Given the description of an element on the screen output the (x, y) to click on. 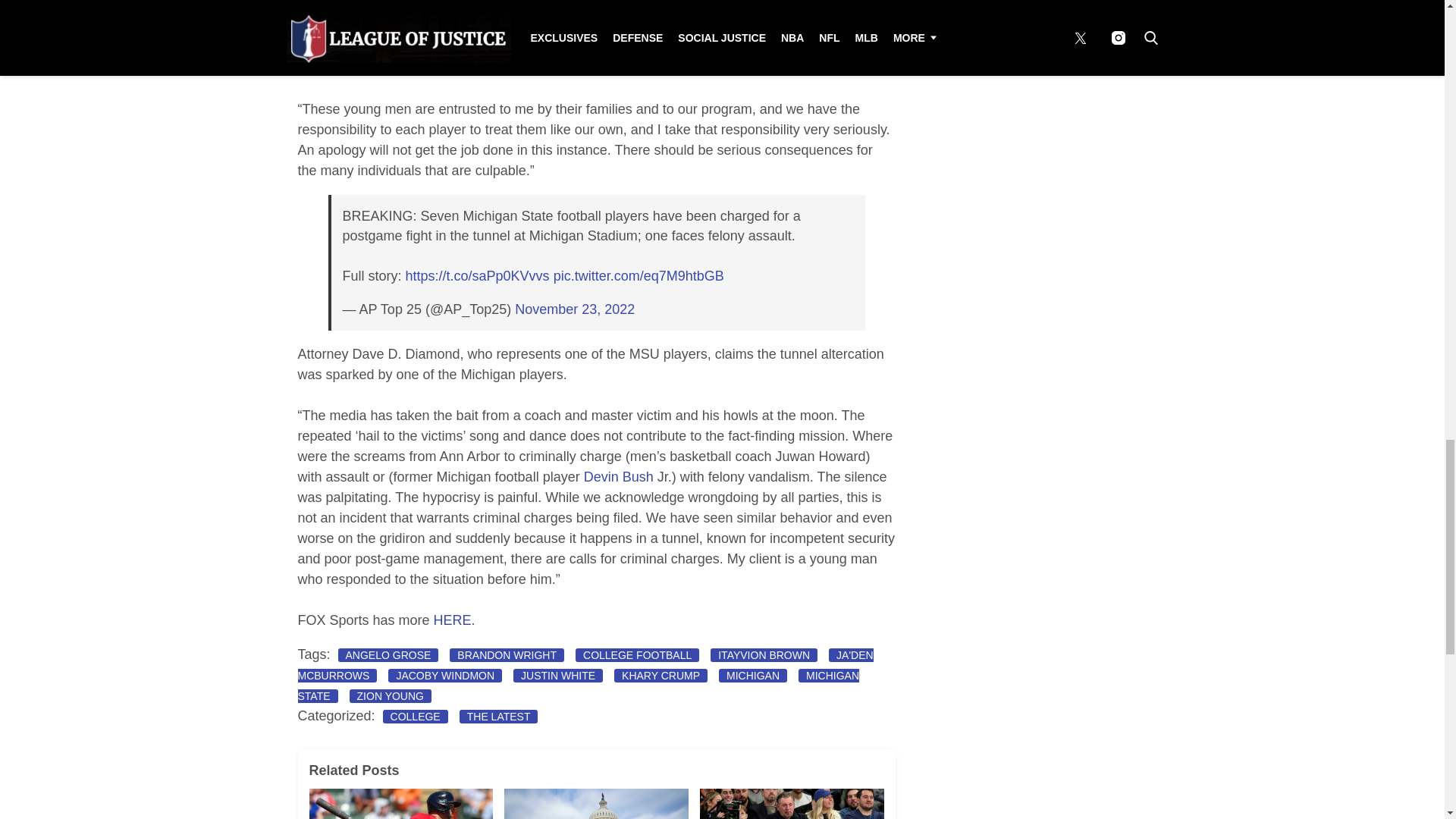
November 23, 2022 (574, 309)
